Given the description of an element on the screen output the (x, y) to click on. 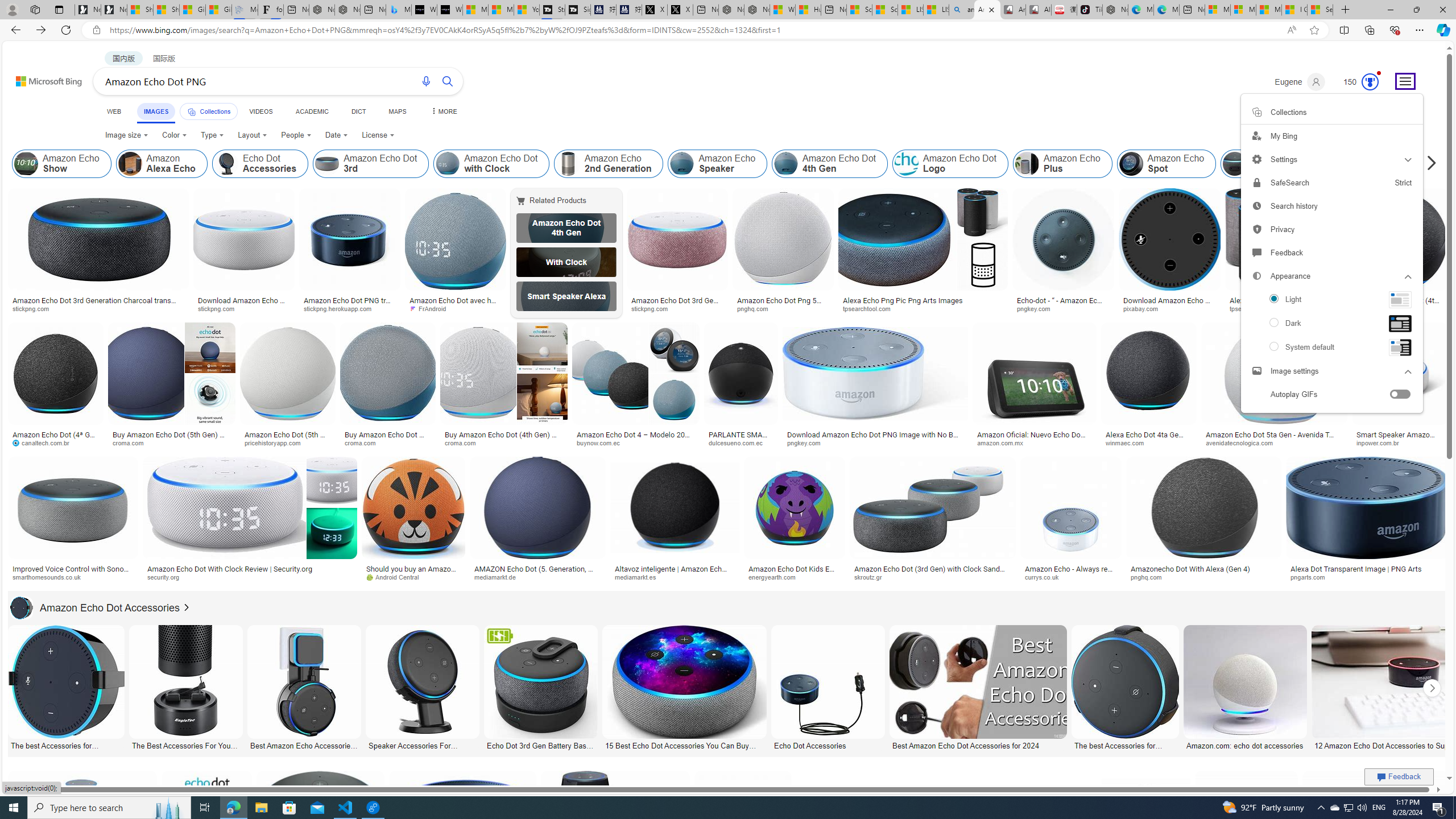
Echo Dot with Clock (565, 261)
energyearth.com (775, 576)
Class: rms_img (1400, 347)
Android Central (413, 576)
ACADEMIC (311, 111)
pngkey.com (807, 442)
